Given the description of an element on the screen output the (x, y) to click on. 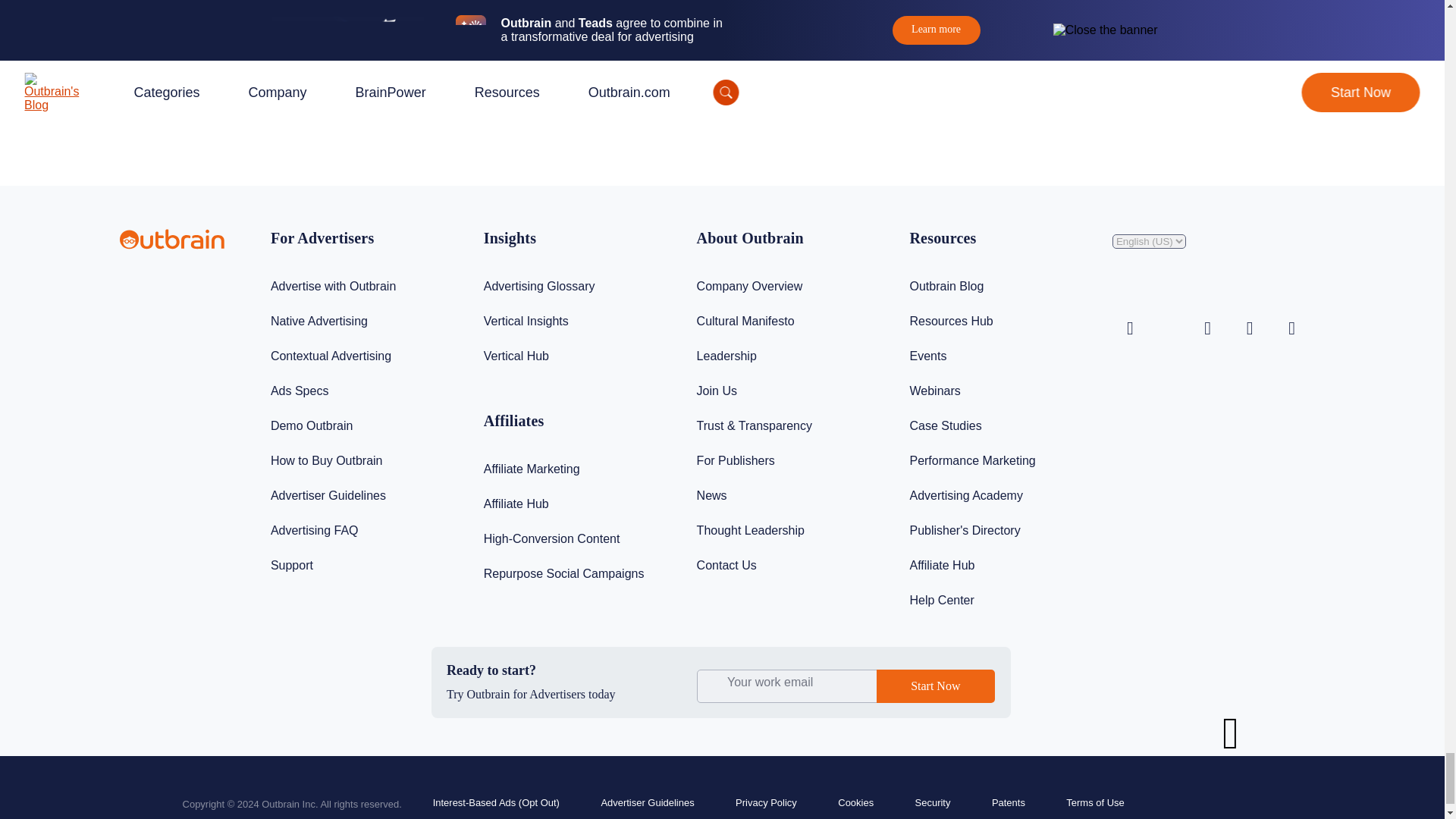
Start Now (935, 685)
Barbara Secko Zizek (335, 84)
Libi Rynkyu (628, 84)
Alba Navarro (939, 84)
